Given the description of an element on the screen output the (x, y) to click on. 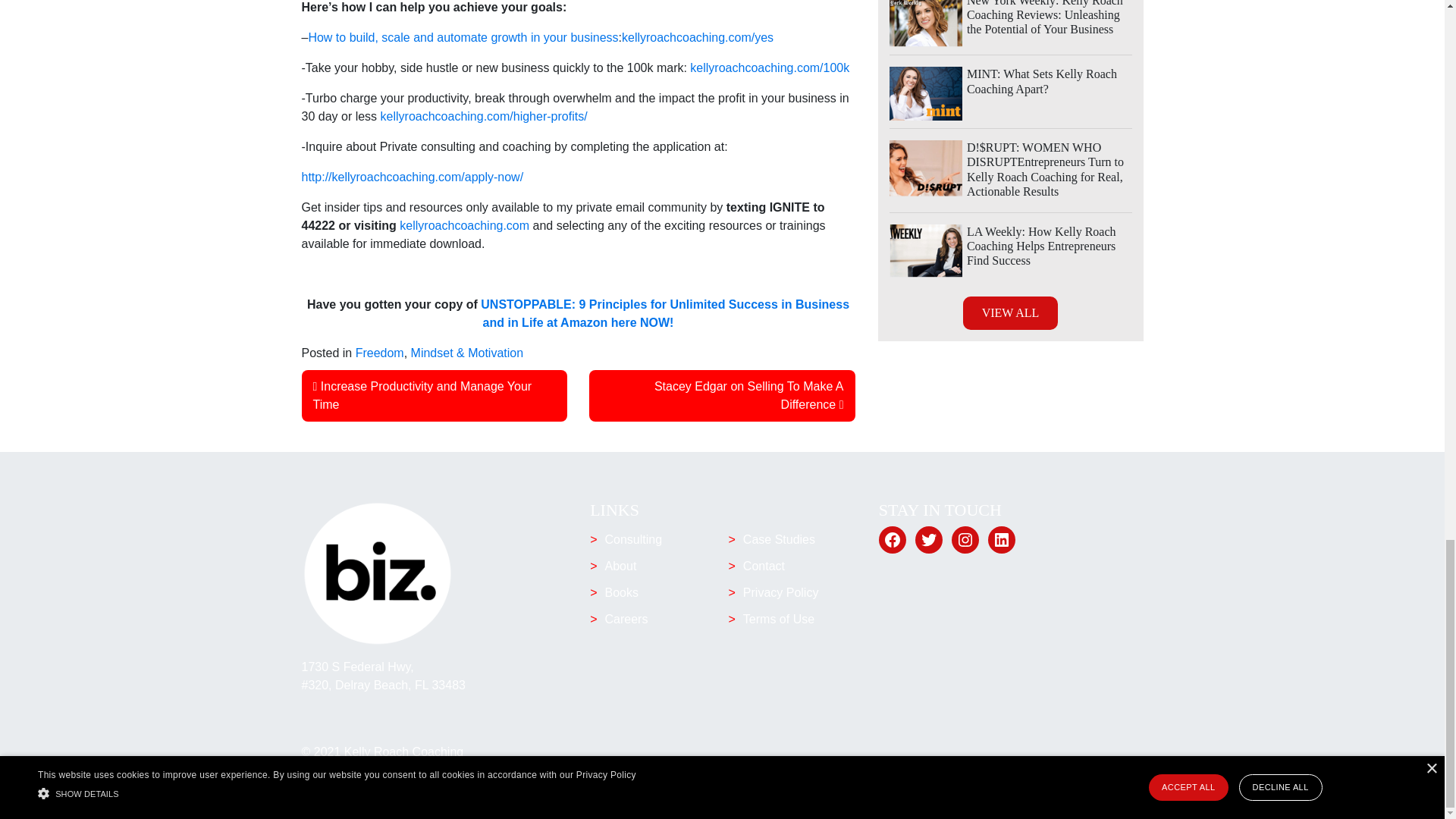
Freedom (379, 352)
How to build, scale and automate growth in your business (462, 37)
kellyroachcoaching.com (463, 225)
Stacey Edgar on Selling To Make A Difference  (748, 395)
 Increase Productivity and Manage Your Time (422, 395)
